Given the description of an element on the screen output the (x, y) to click on. 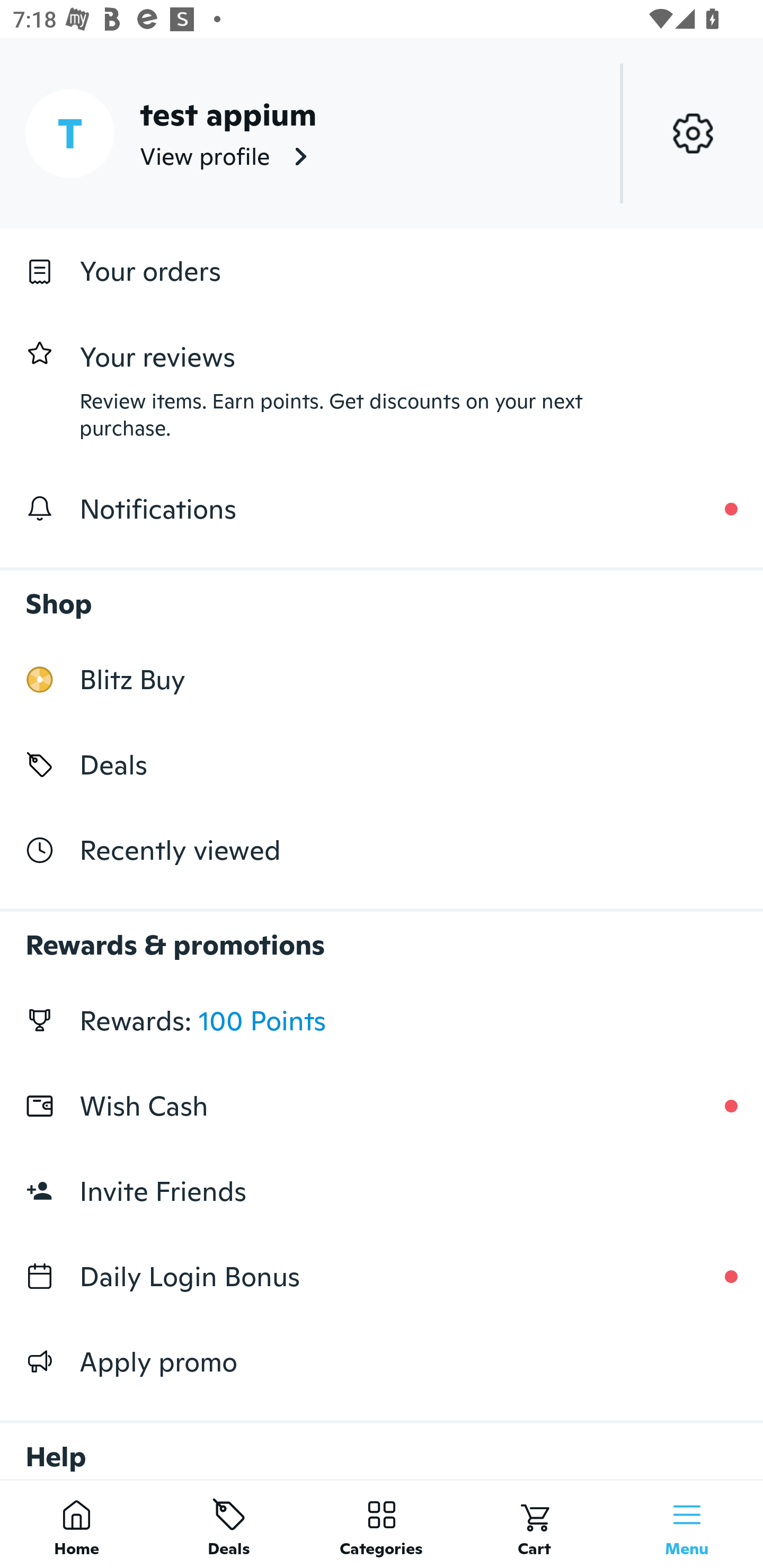
T test appium View profile (381, 132)
Your orders (381, 270)
Notifications (381, 508)
Shop (381, 593)
Blitz Buy (381, 679)
Deals (381, 764)
Recently viewed (381, 850)
Rewards & promotions (381, 935)
Rewards: 100 Points (381, 1020)
Wish Cash (381, 1106)
Invite Friends (381, 1190)
Daily Login Bonus (381, 1277)
Apply promo (381, 1361)
Help (381, 1441)
Home (76, 1523)
Deals (228, 1523)
Categories (381, 1523)
Cart (533, 1523)
Menu (686, 1523)
